Given the description of an element on the screen output the (x, y) to click on. 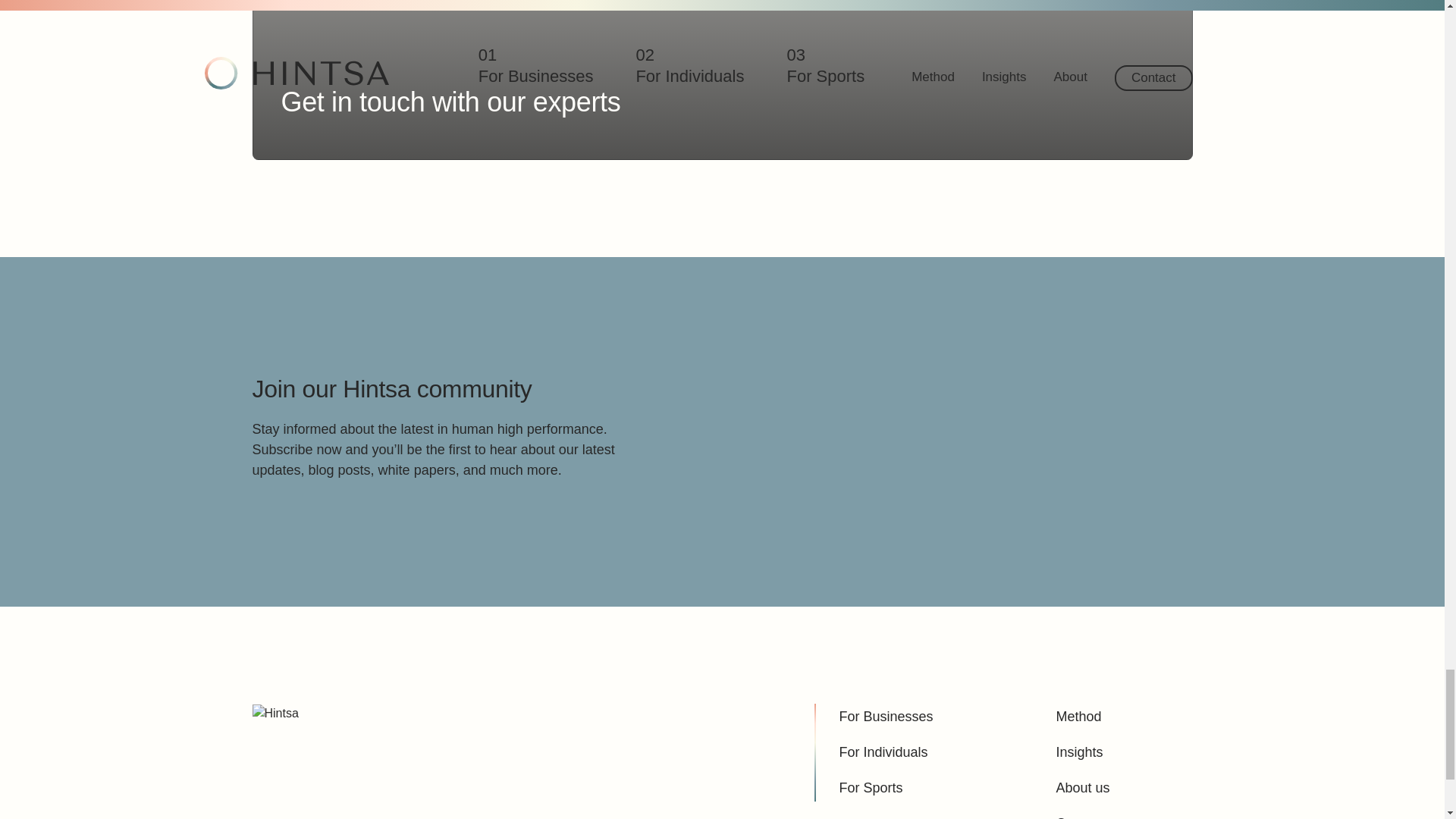
Method (1077, 716)
For Sports (870, 787)
Insights (1078, 752)
Get in touch with our experts (450, 102)
For Individuals (882, 752)
About us (1082, 787)
Careers (1079, 814)
For Businesses (885, 716)
